Given the description of an element on the screen output the (x, y) to click on. 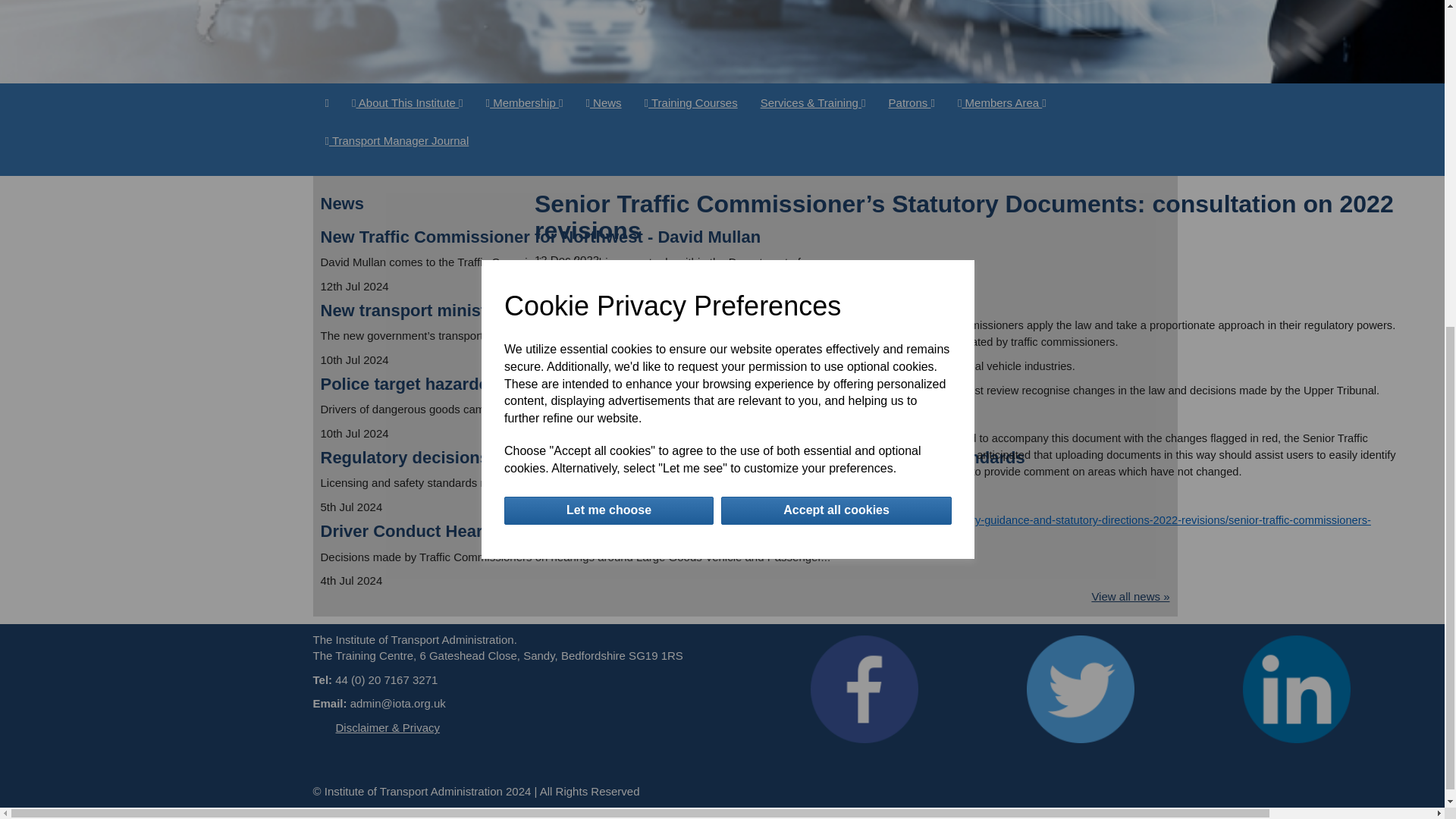
Transport Manager Journal (397, 140)
New Traffic Commissioner for Northwest - David Mullan (540, 236)
Membership (524, 103)
Members Area (1002, 103)
About This Institute (407, 103)
Patrons (911, 103)
News (602, 103)
Training Courses (691, 103)
